Given the description of an element on the screen output the (x, y) to click on. 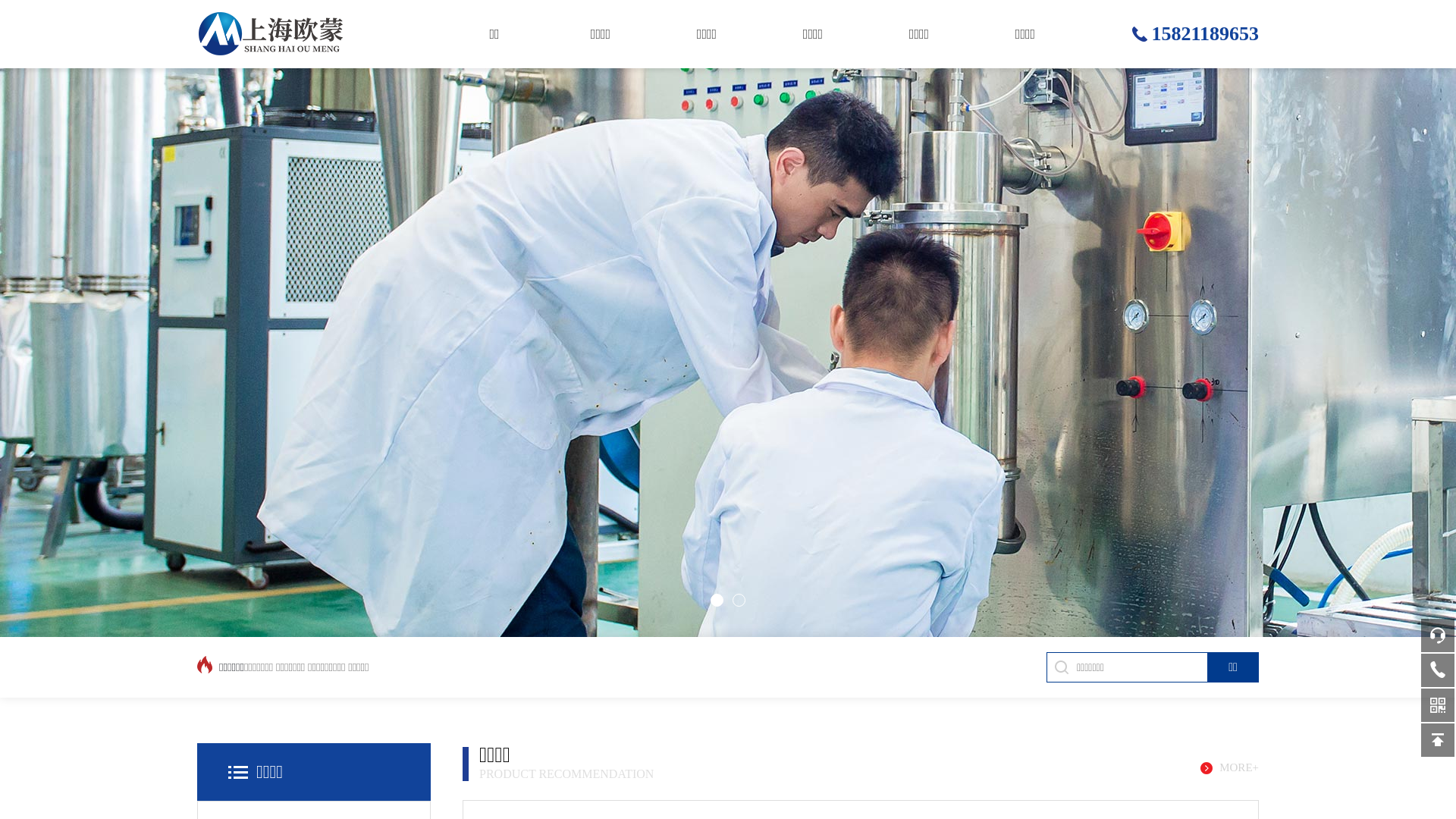
MORE+ Element type: text (1229, 767)
